Given the description of an element on the screen output the (x, y) to click on. 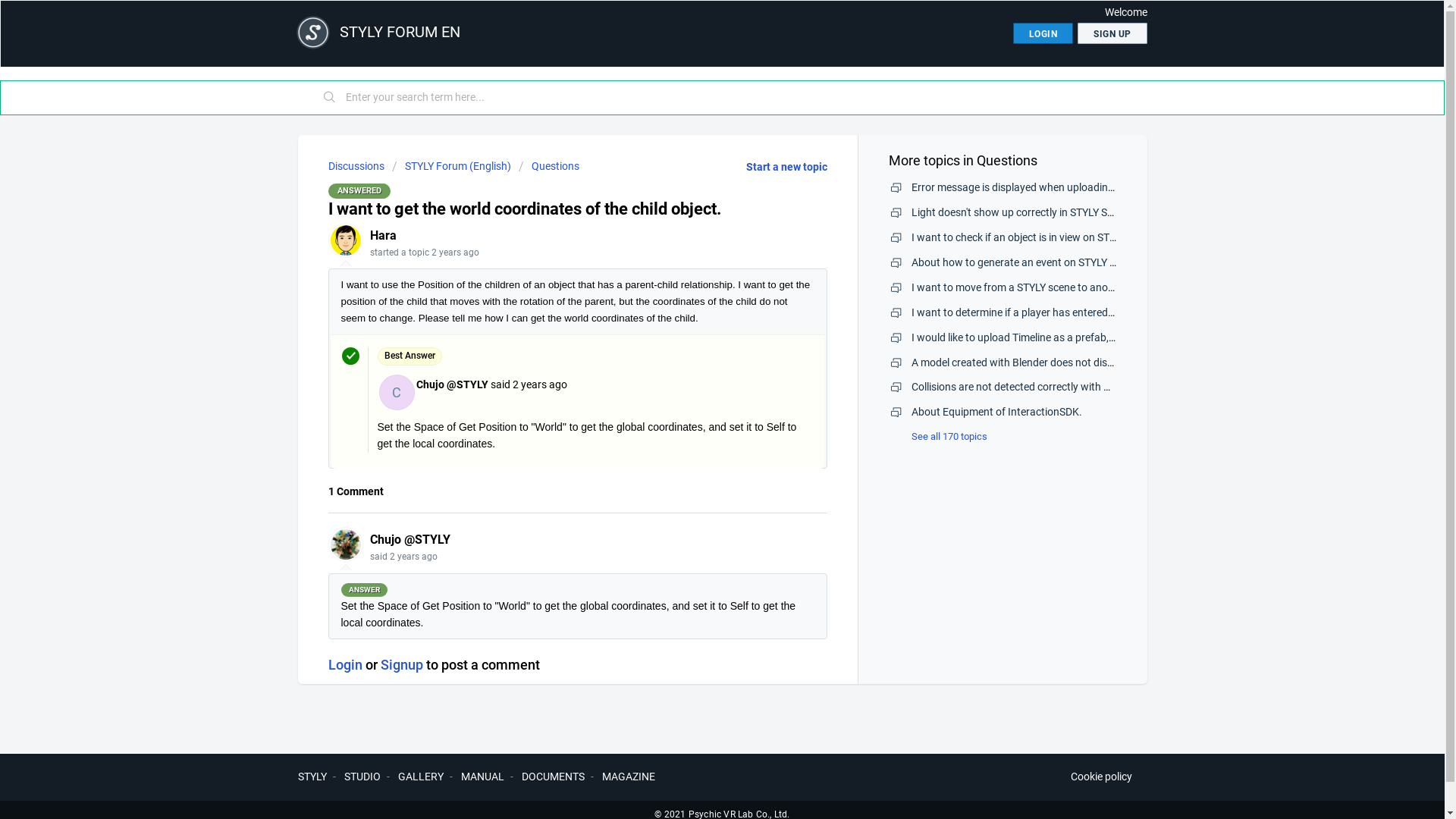
I want to check if an object is in view on STYLY. Element type: text (1019, 237)
MAGAZINE Element type: text (628, 776)
I want to move from a STYLY scene to another website. Element type: text (1039, 287)
MANUAL Element type: text (482, 776)
About Equipment of InteractionSDK. Element type: text (996, 411)
See all 170 topics Element type: text (937, 436)
Collisions are not detected correctly with PlayMaker. Element type: text (1033, 386)
Signup Element type: text (401, 664)
STYLY Forum (English) Element type: text (450, 166)
Light doesn't show up correctly in STYLY Studio. Element type: text (1022, 212)
About how to generate an event on STYLY Mobile (AR). Element type: text (1039, 262)
STYLY Element type: text (311, 776)
Questions Element type: text (548, 166)
Discussions Element type: text (355, 166)
SIGN UP Element type: text (1112, 32)
LOGIN Element type: text (1043, 32)
GALLERY Element type: text (419, 776)
STUDIO Element type: text (362, 776)
DOCUMENTS Element type: text (552, 776)
Cookie policy Element type: text (1101, 776)
Login Element type: text (344, 664)
Start a new topic Element type: text (786, 166)
